Given the description of an element on the screen output the (x, y) to click on. 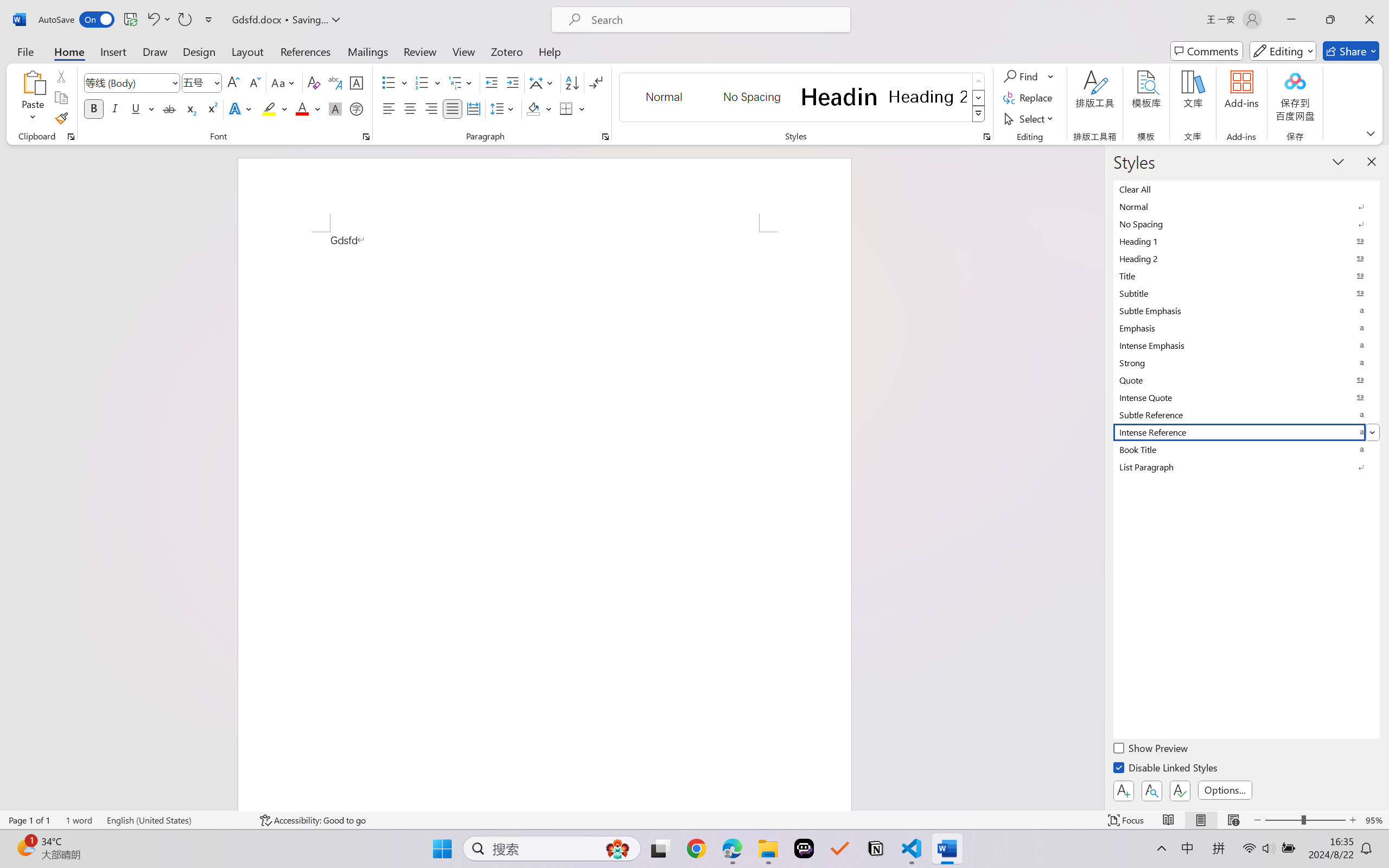
Text Effects and Typography (241, 108)
Normal (1246, 206)
Grow Font (233, 82)
Align Left (388, 108)
Strikethrough (169, 108)
Subtitle (1246, 293)
Multilevel List (461, 82)
Class: NetUIButton (1179, 790)
Format Painter (60, 118)
